Given the description of an element on the screen output the (x, y) to click on. 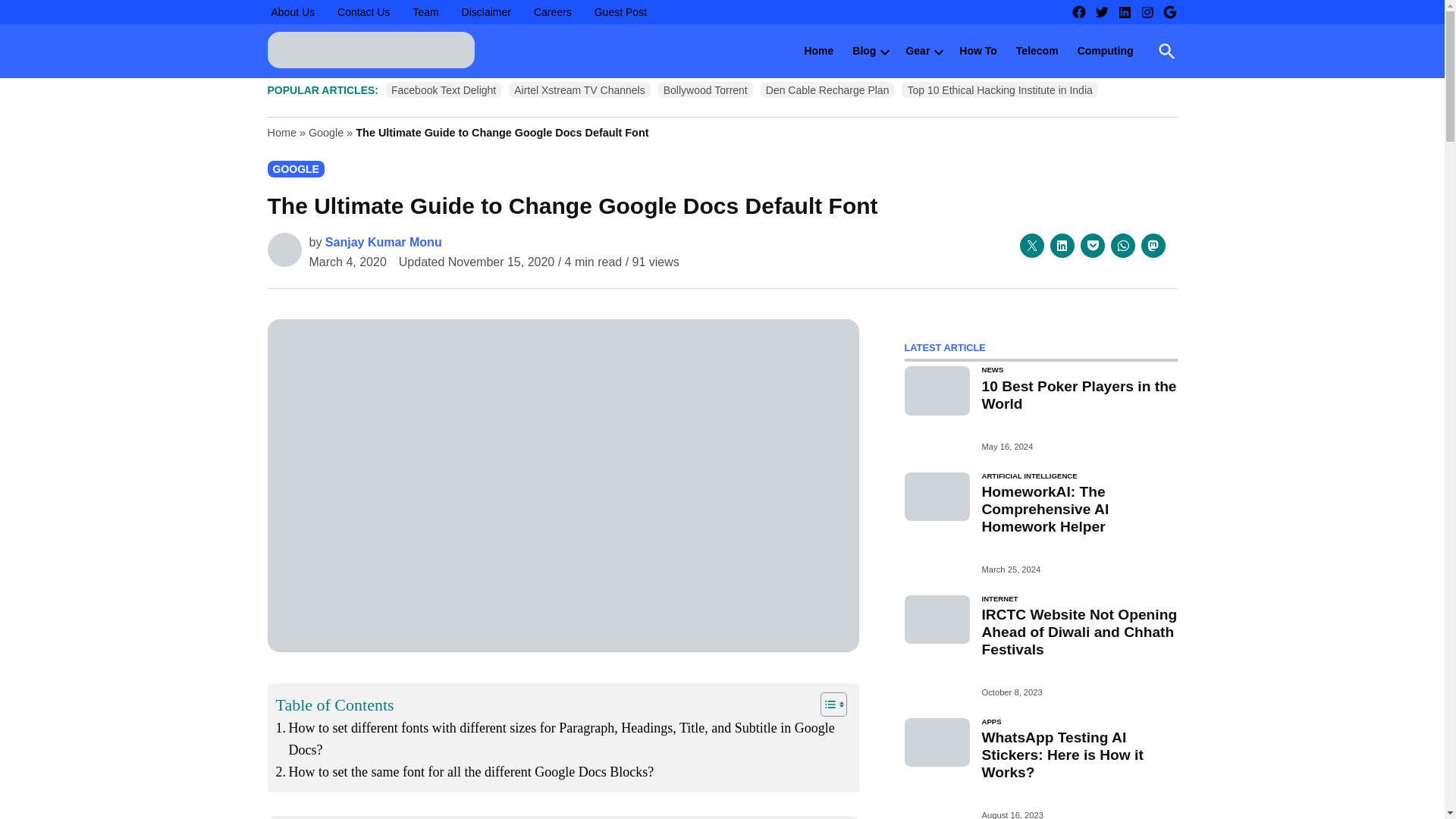
Click to share on Pocket (1091, 245)
Careers (552, 11)
Disclaimer (486, 11)
About Us (292, 11)
Guest Post (620, 11)
Contact Us (363, 11)
Click to share on X (1031, 245)
Team (425, 11)
Click to share on LinkedIn (1061, 245)
Click to share on WhatsApp (1121, 245)
Click to share on Mastodon (1152, 245)
Facebook (1078, 12)
